Given the description of an element on the screen output the (x, y) to click on. 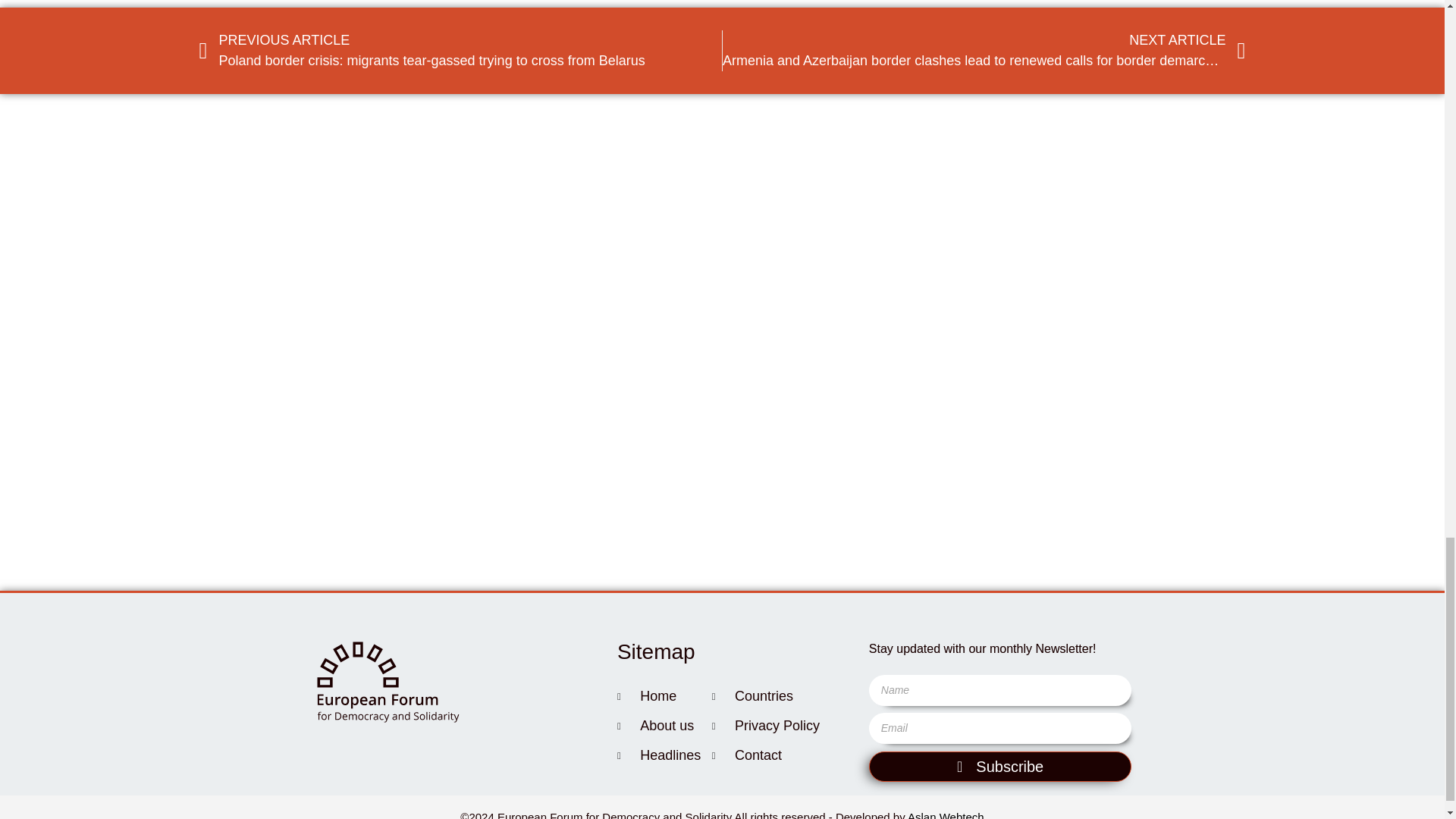
Headlines (664, 755)
About us (664, 725)
Home (664, 696)
